Given the description of an element on the screen output the (x, y) to click on. 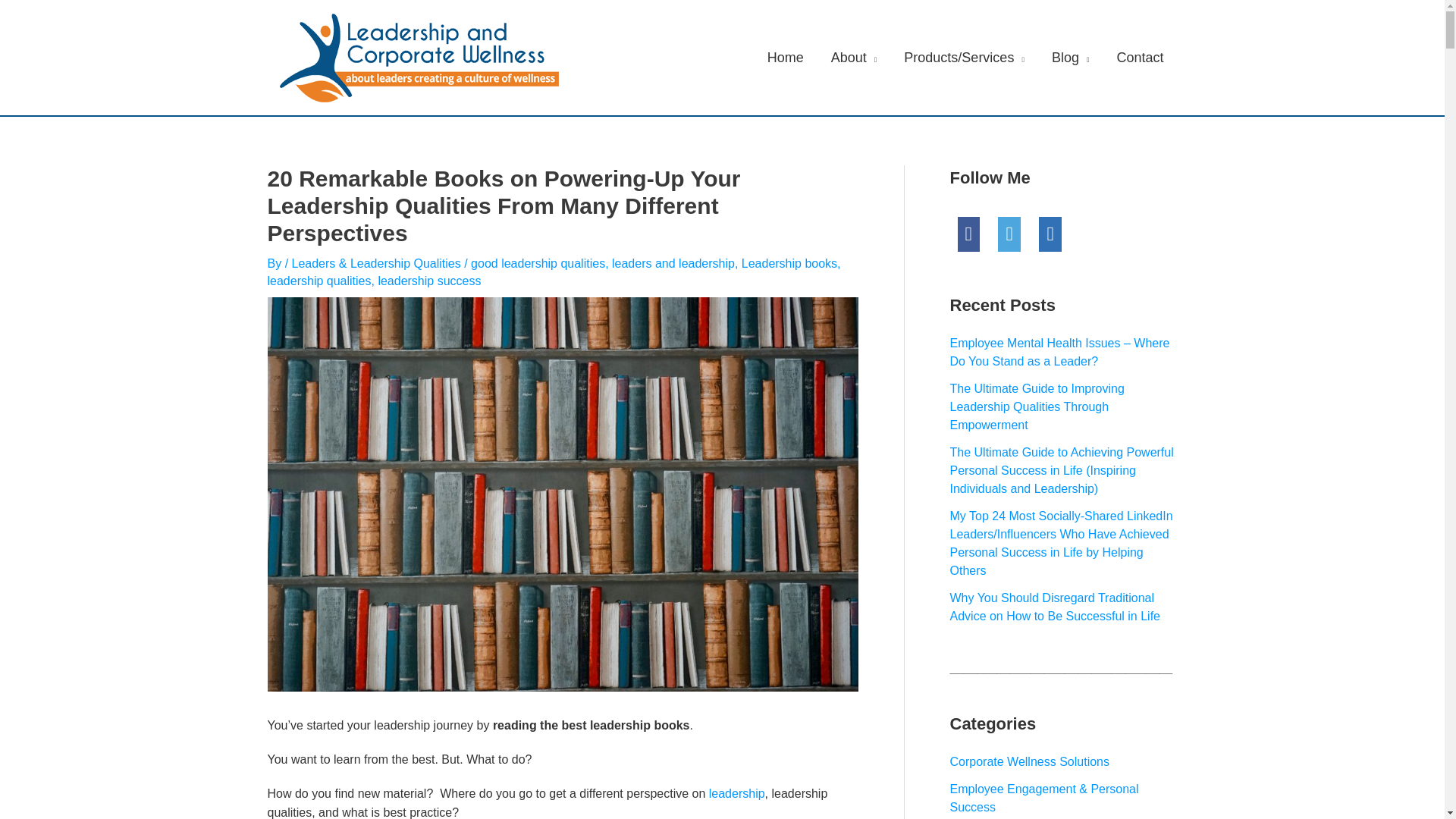
Corporate Wellness Solutions Element type: text (1028, 761)
leadership qualities Element type: text (318, 280)
leadership success Element type: text (428, 280)
leadership Element type: text (737, 793)
good leadership qualities Element type: text (537, 263)
Home Element type: text (785, 57)
leaders and leadership Element type: text (672, 263)
Contact Element type: text (1139, 57)
Employee Engagement & Personal Success Element type: text (1043, 797)
Blog Element type: text (1070, 57)
Leaders & Leadership Qualities Element type: text (376, 263)
Products/Services Element type: text (964, 57)
About Element type: text (854, 57)
Leadership books Element type: text (789, 263)
